Given the description of an element on the screen output the (x, y) to click on. 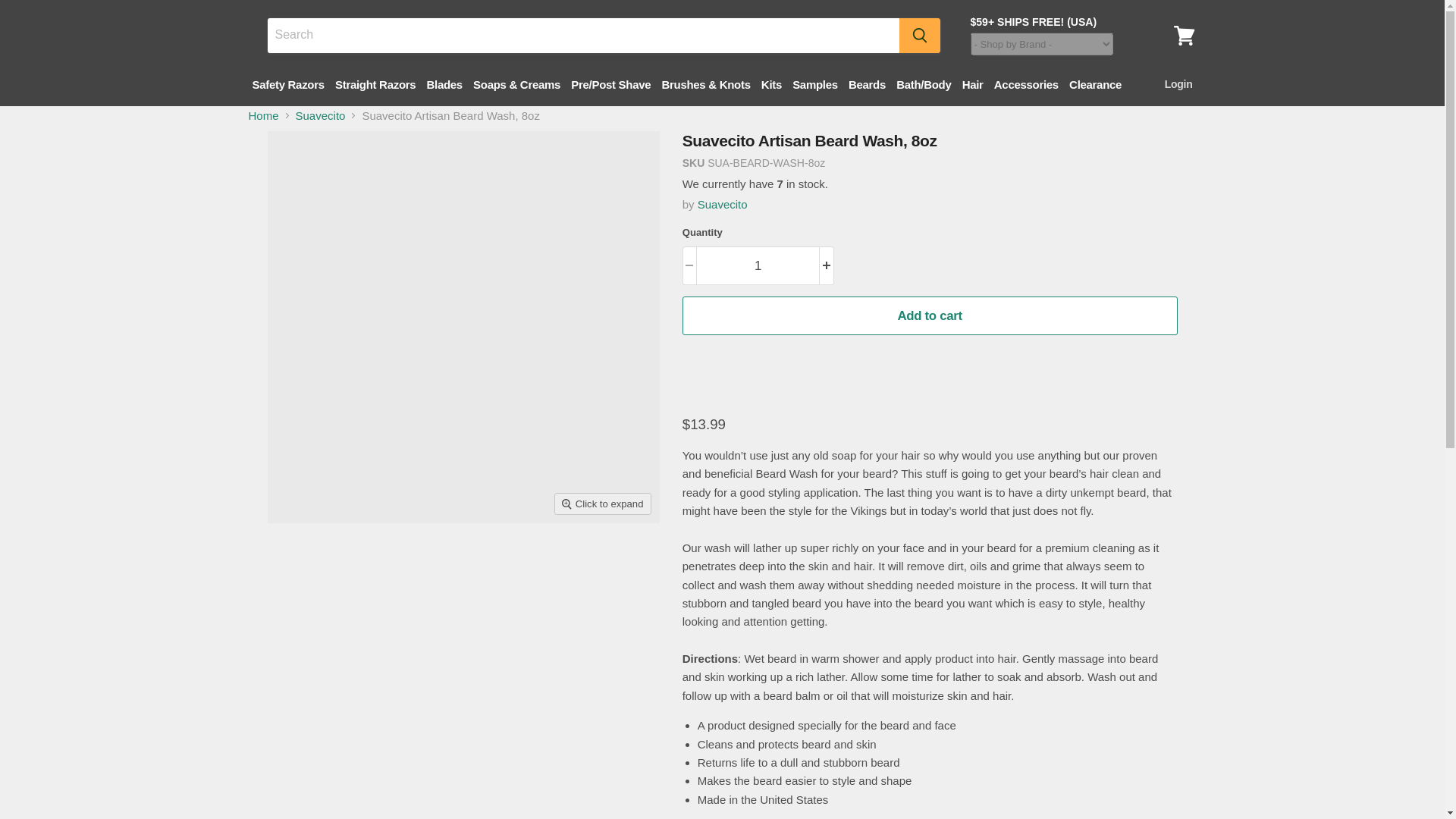
Blades (444, 83)
1 (757, 265)
Suavecito (722, 204)
Clearance (1095, 83)
Safety Razors (288, 83)
Straight Razors (375, 83)
Beards (866, 83)
Login (1176, 83)
View cart (1184, 35)
Hair (972, 83)
